Given the description of an element on the screen output the (x, y) to click on. 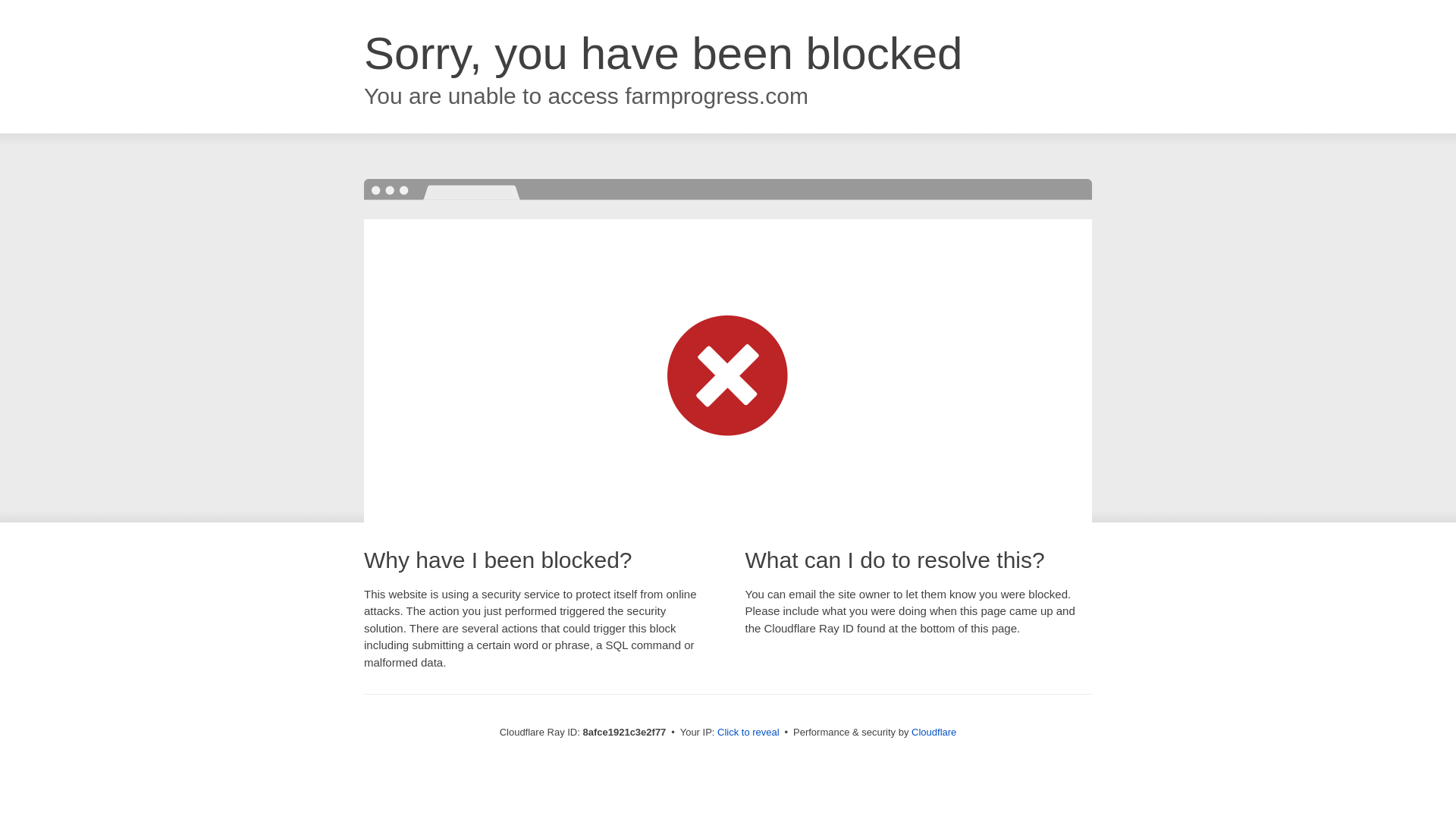
Cloudflare (933, 731)
Click to reveal (747, 732)
